Given the description of an element on the screen output the (x, y) to click on. 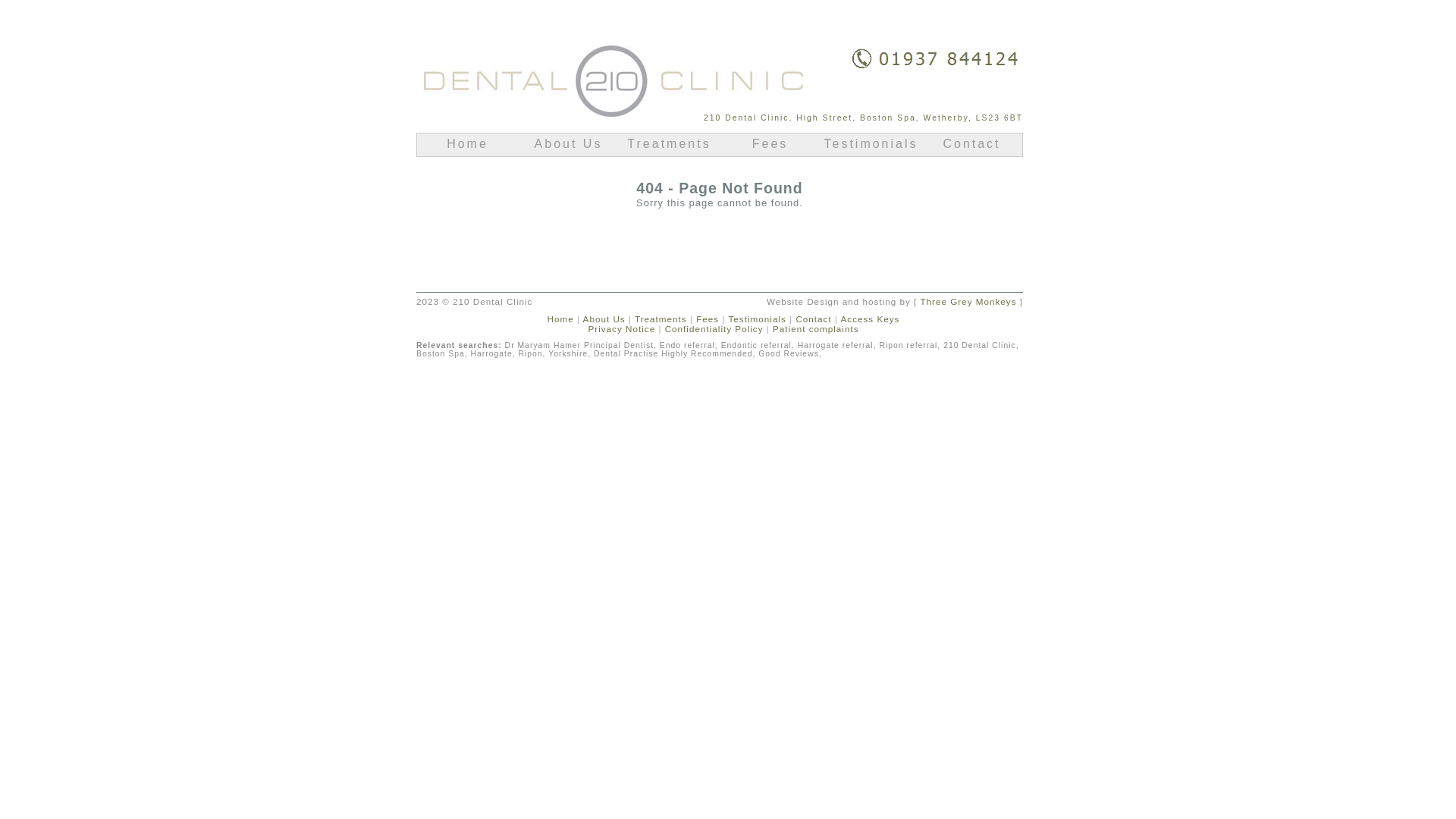
Contact Element type: text (814, 318)
Treatments Element type: text (660, 318)
Testimonials Element type: text (870, 147)
Patient complaints Element type: text (815, 328)
About Us Element type: text (604, 318)
Treatments Element type: text (668, 147)
Three Grey Monkeys Element type: text (967, 301)
Fees Element type: text (707, 318)
Access Keys Element type: text (870, 318)
Contact Element type: text (971, 147)
Confidentiality Policy Element type: text (714, 328)
Fees Element type: text (769, 147)
Home Element type: text (560, 318)
Home Element type: text (467, 147)
About Us Element type: text (567, 147)
Testimonials Element type: text (757, 318)
Privacy Notice Element type: text (621, 328)
